Given the description of an element on the screen output the (x, y) to click on. 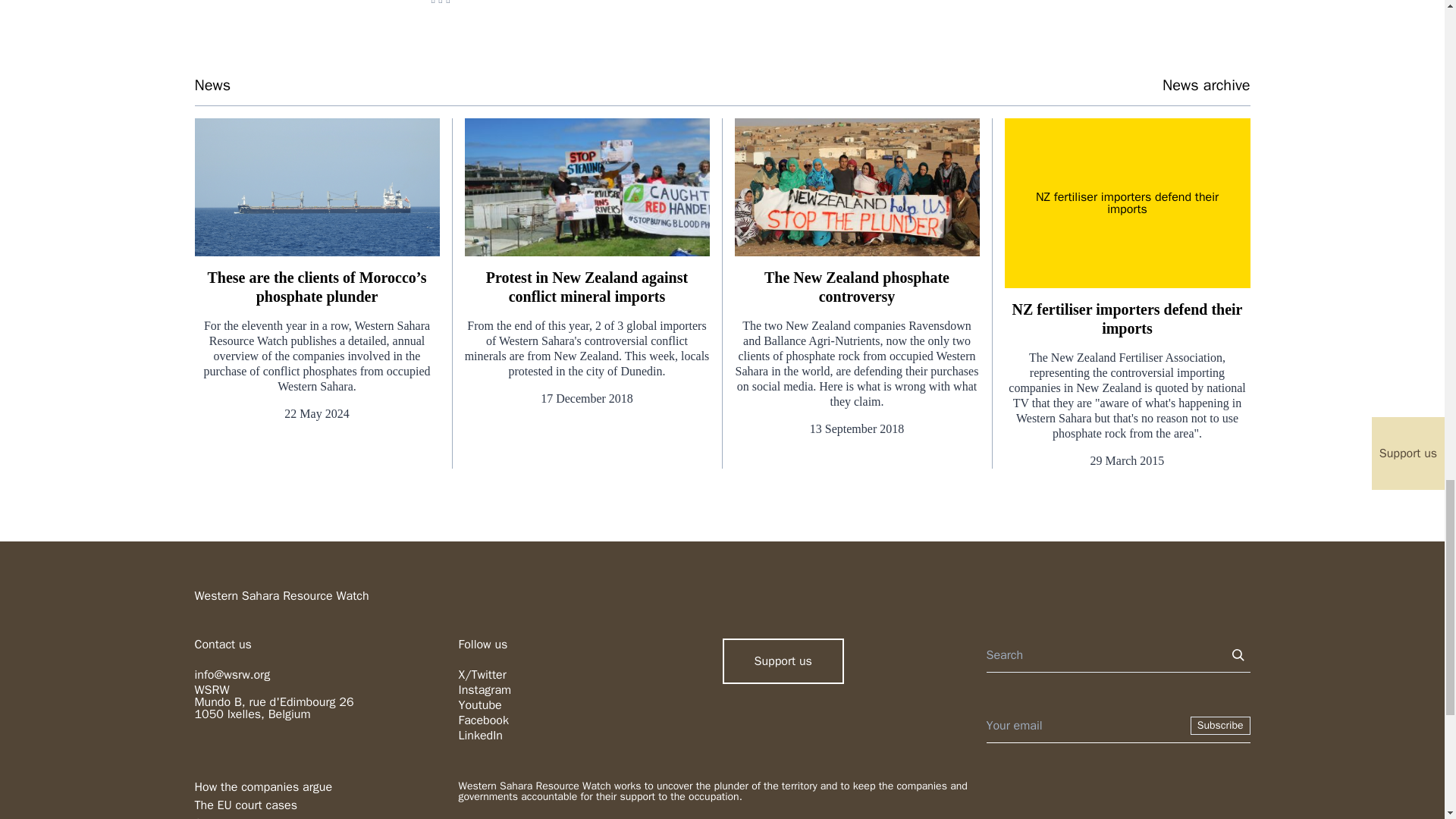
How the companies argue (262, 786)
The EU court cases (245, 805)
Instagram (484, 689)
Support us (782, 660)
LinkedIn (480, 735)
Protest in New Zealand against conflict mineral imports (586, 287)
Youtube (479, 704)
The New Zealand phosphate controversy (855, 287)
Subscribe (1220, 725)
Facebook (483, 720)
